Given the description of an element on the screen output the (x, y) to click on. 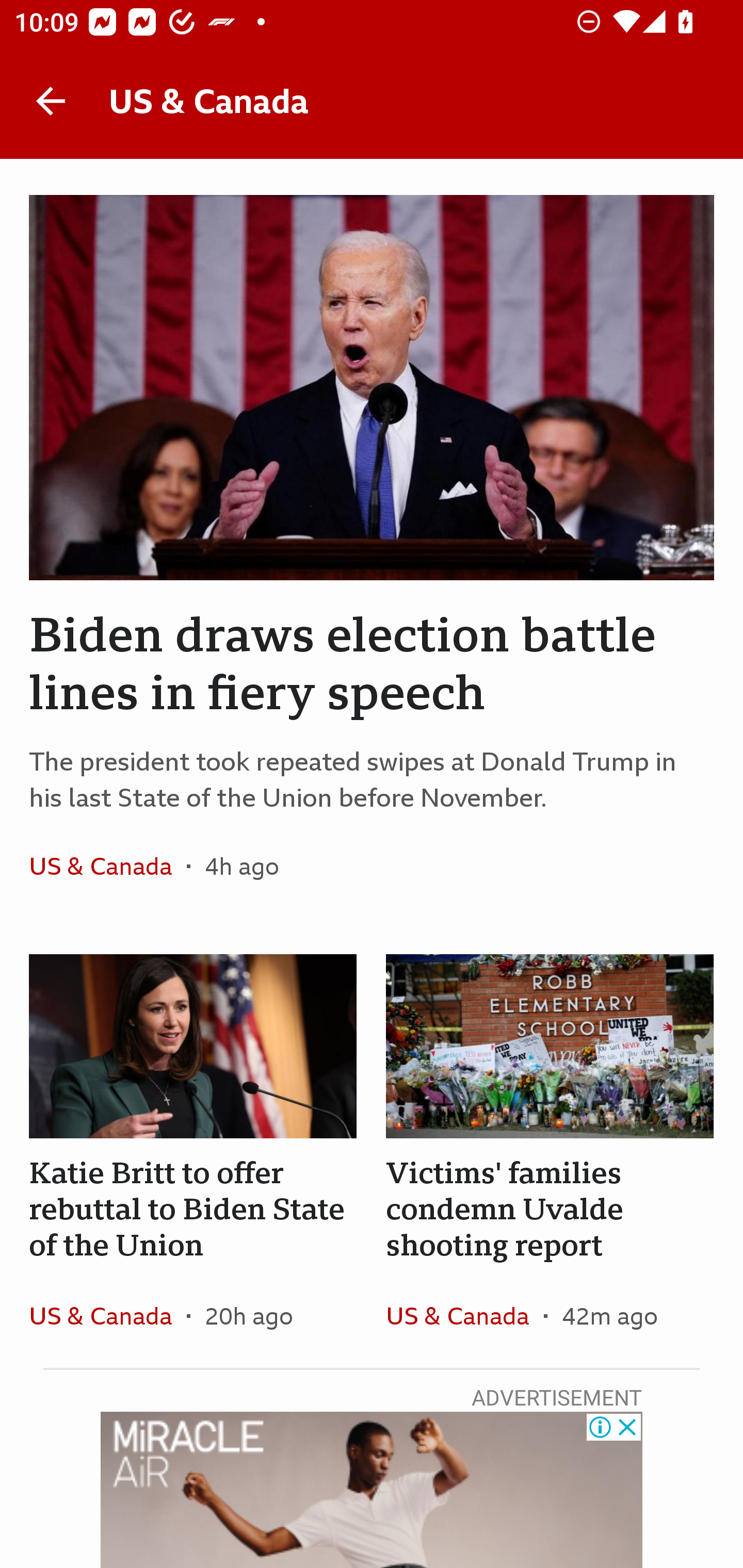
Back (50, 101)
US & Canada In the section US & Canada (107, 865)
US & Canada In the section US & Canada (107, 1315)
US & Canada In the section US & Canada (464, 1315)
